Given the description of an element on the screen output the (x, y) to click on. 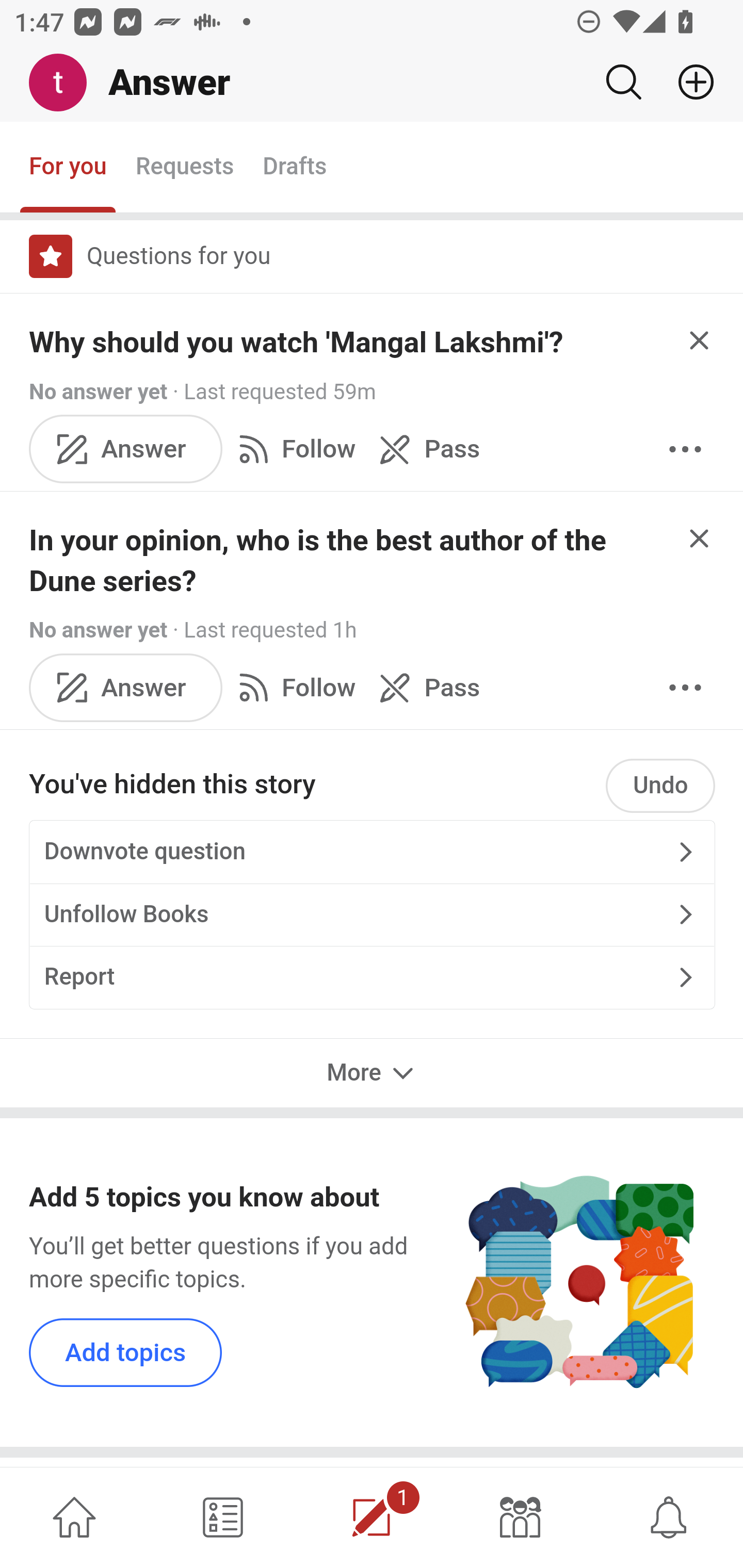
Me (64, 83)
Search (623, 82)
Add (688, 82)
For you (68, 167)
Requests (183, 167)
Drafts (295, 167)
Hide (699, 340)
Why should you watch 'Mangal Lakshmi'? (295, 342)
No answer yet (97, 390)
Answer (125, 448)
Follow (293, 448)
Pass (425, 448)
More (684, 448)
Hide (699, 537)
No answer yet (97, 629)
Answer (125, 687)
Follow (293, 687)
Pass (425, 687)
More (684, 687)
Undo (660, 786)
Downvote question (371, 851)
Unfollow Books (371, 914)
Report (371, 977)
More (371, 1073)
Add topics (125, 1352)
